Given the description of an element on the screen output the (x, y) to click on. 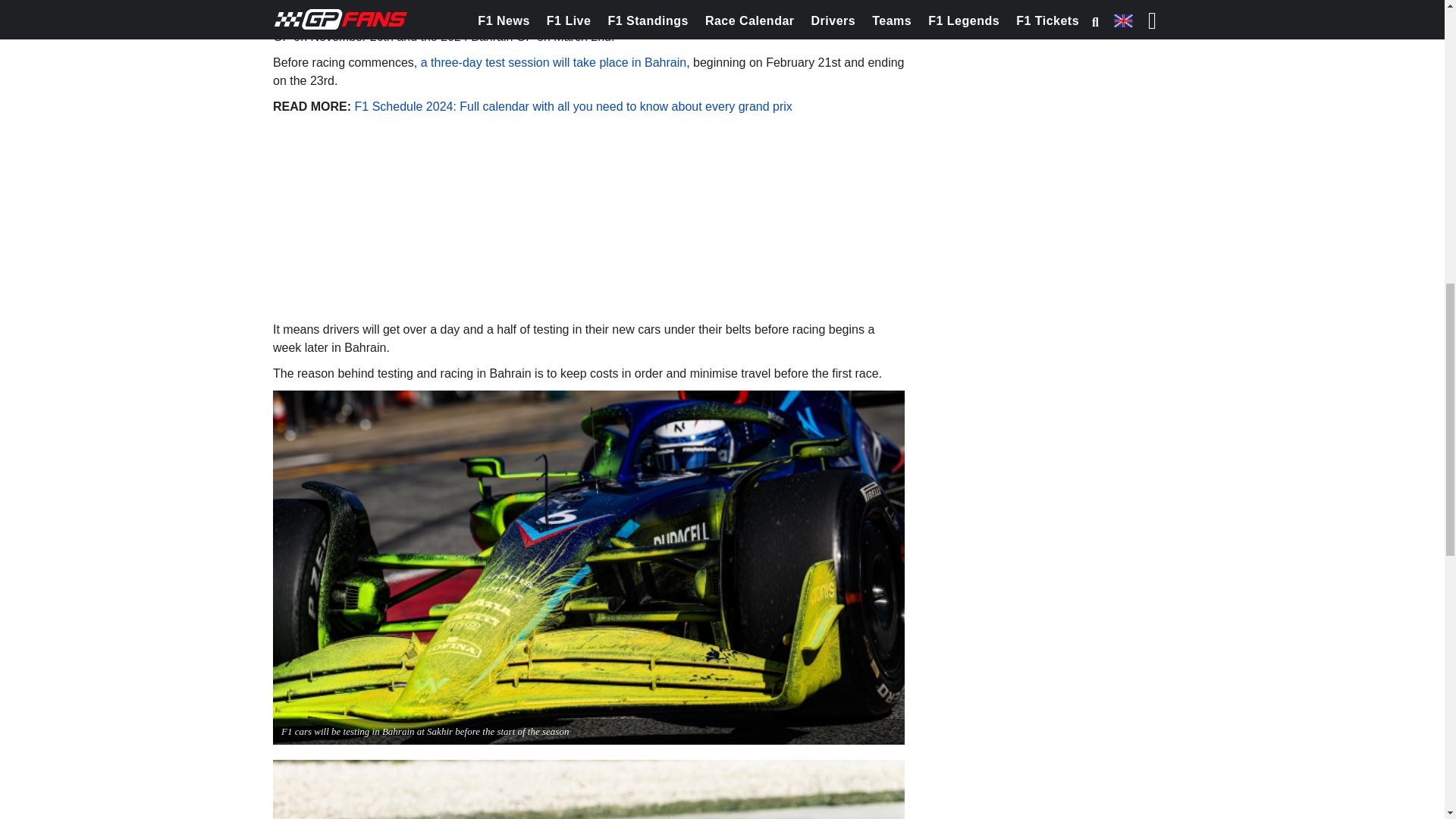
a three-day test session will take place in Bahrain (552, 62)
a three-day test session will take place in Bahrain (552, 62)
